Given the description of an element on the screen output the (x, y) to click on. 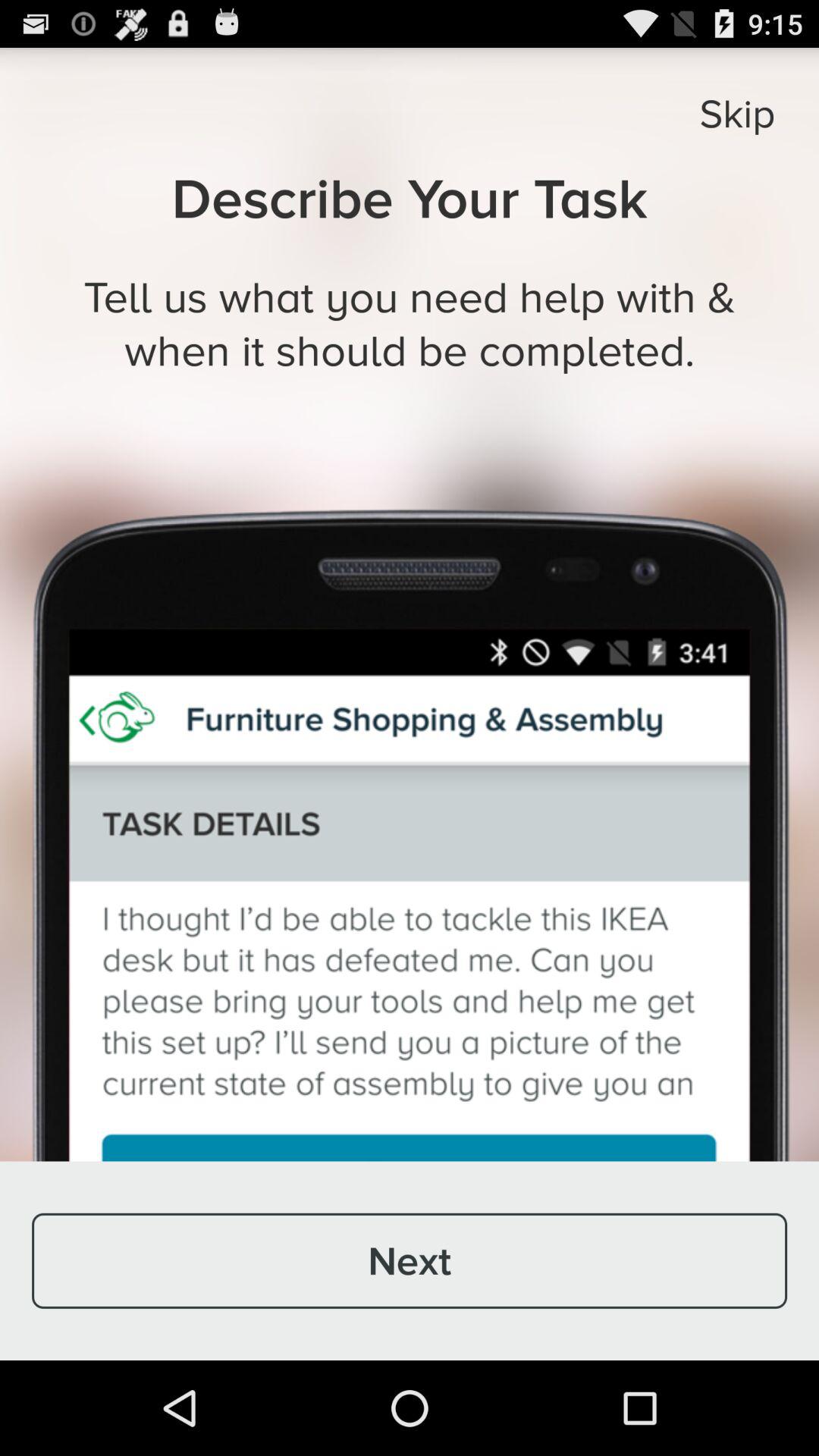
swipe until the next item (409, 1260)
